Given the description of an element on the screen output the (x, y) to click on. 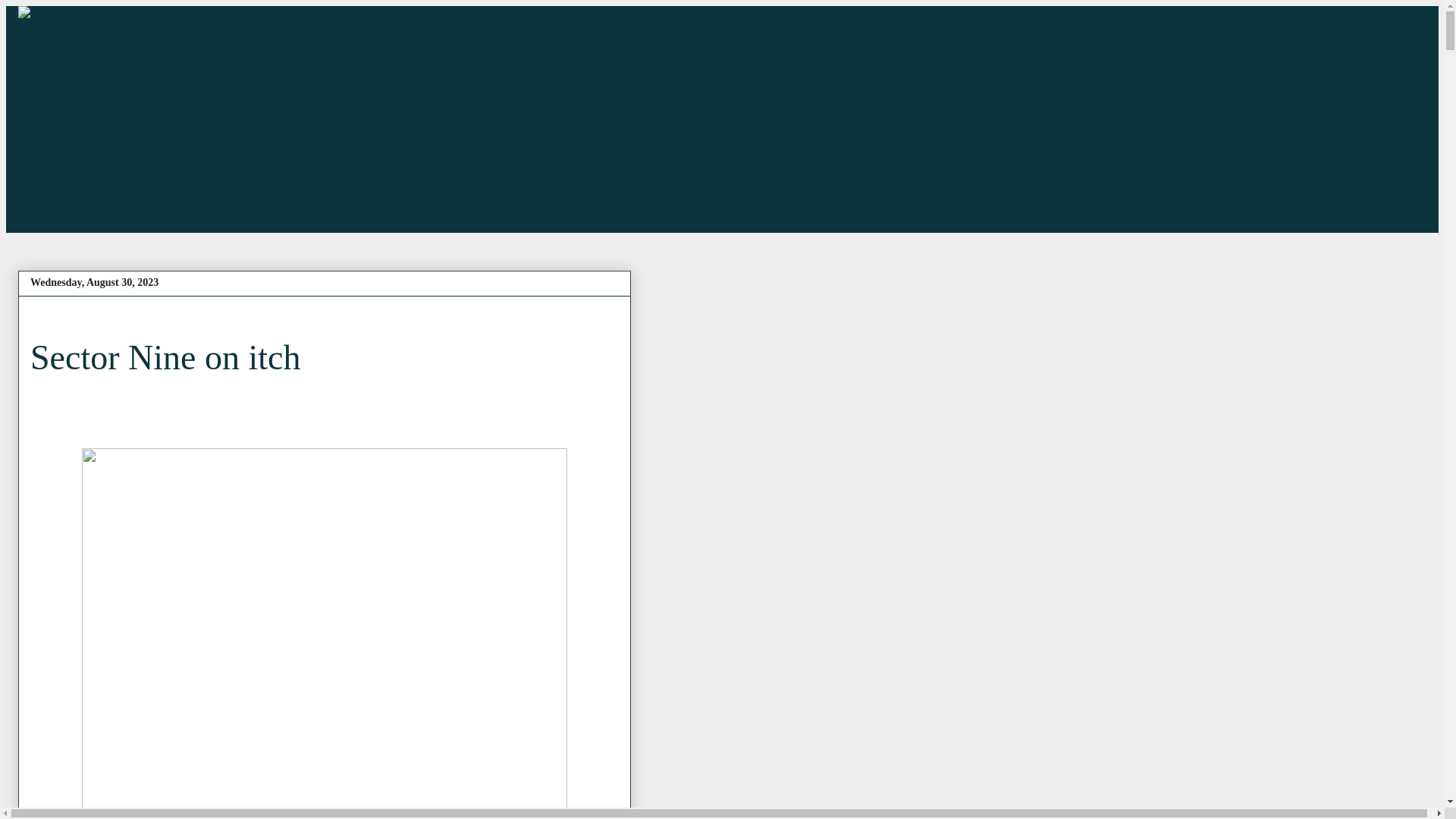
Sector Nine on itch (164, 357)
